Given the description of an element on the screen output the (x, y) to click on. 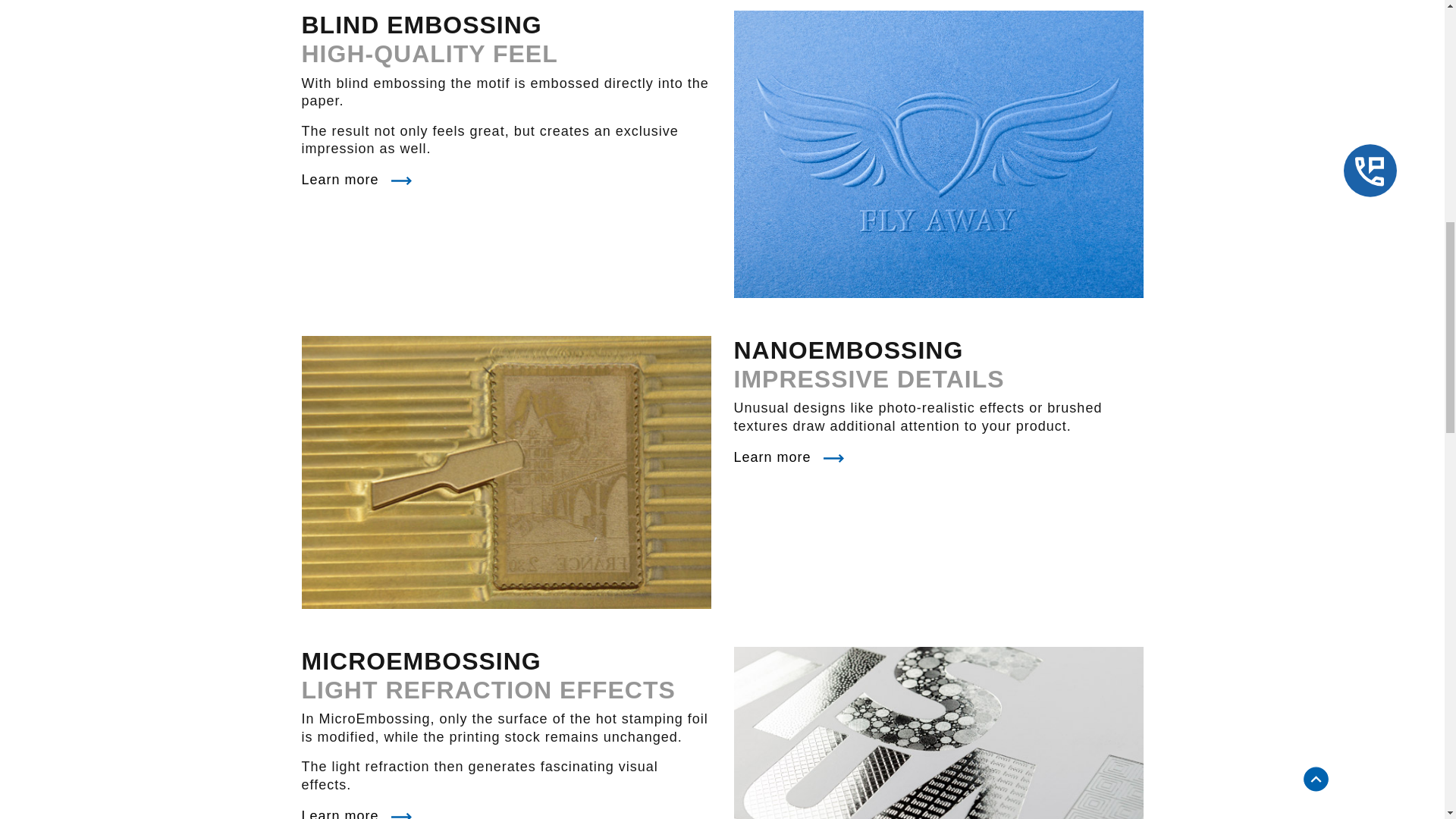
Learn more (788, 457)
Learn more (356, 813)
Learn more (356, 179)
